Given the description of an element on the screen output the (x, y) to click on. 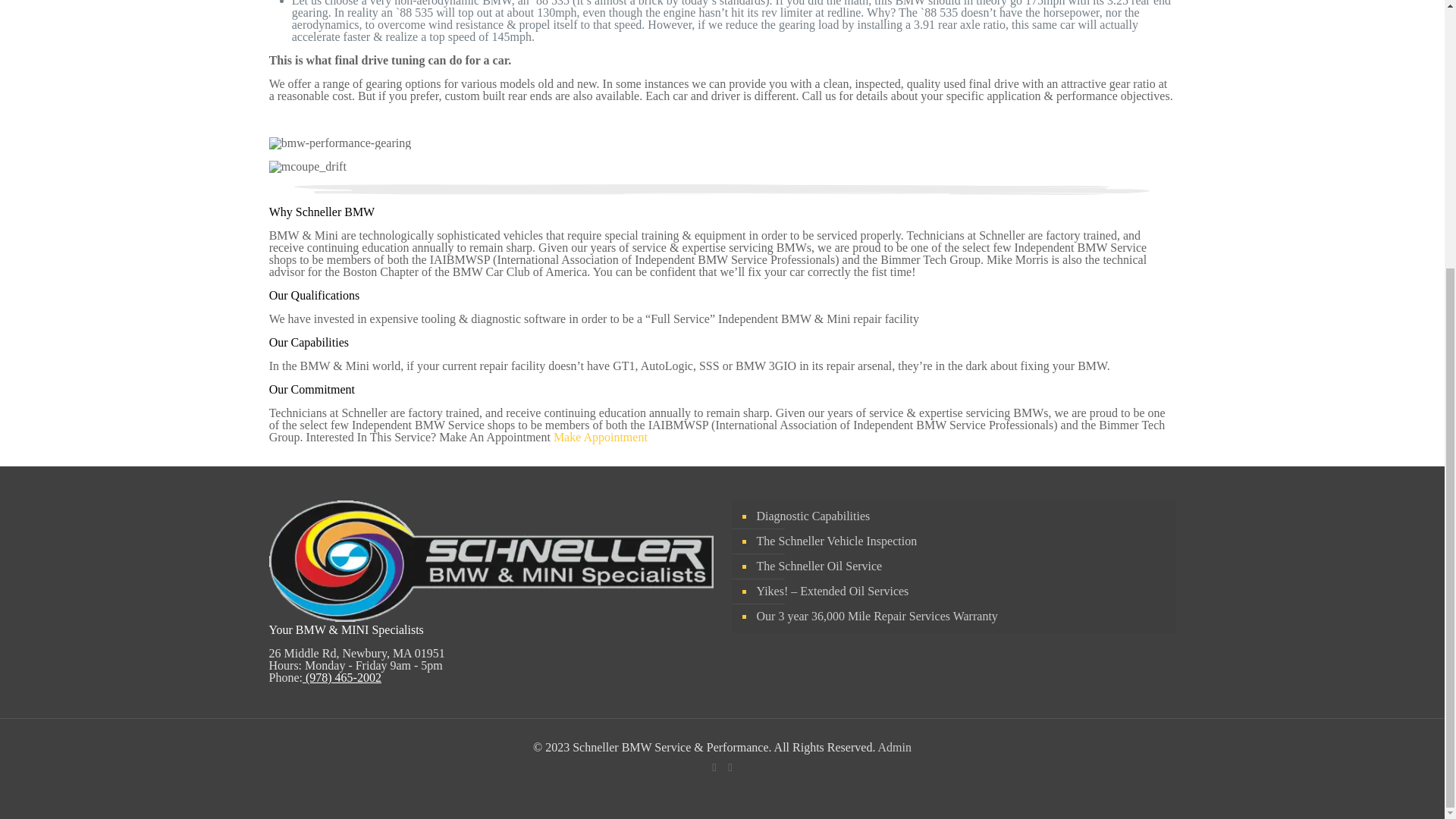
Admin (894, 747)
Our 3 year 36,000 Mile Repair Services Warranty (960, 616)
Facebook (713, 767)
Our Commitment (312, 389)
Diagnostic Capabilities (960, 516)
The Schneller Oil Service (960, 566)
Make Appointment (600, 436)
YouTube (730, 767)
Our Capabilities (309, 341)
Our Qualifications (314, 295)
The Schneller Vehicle Inspection (960, 541)
